Given the description of an element on the screen output the (x, y) to click on. 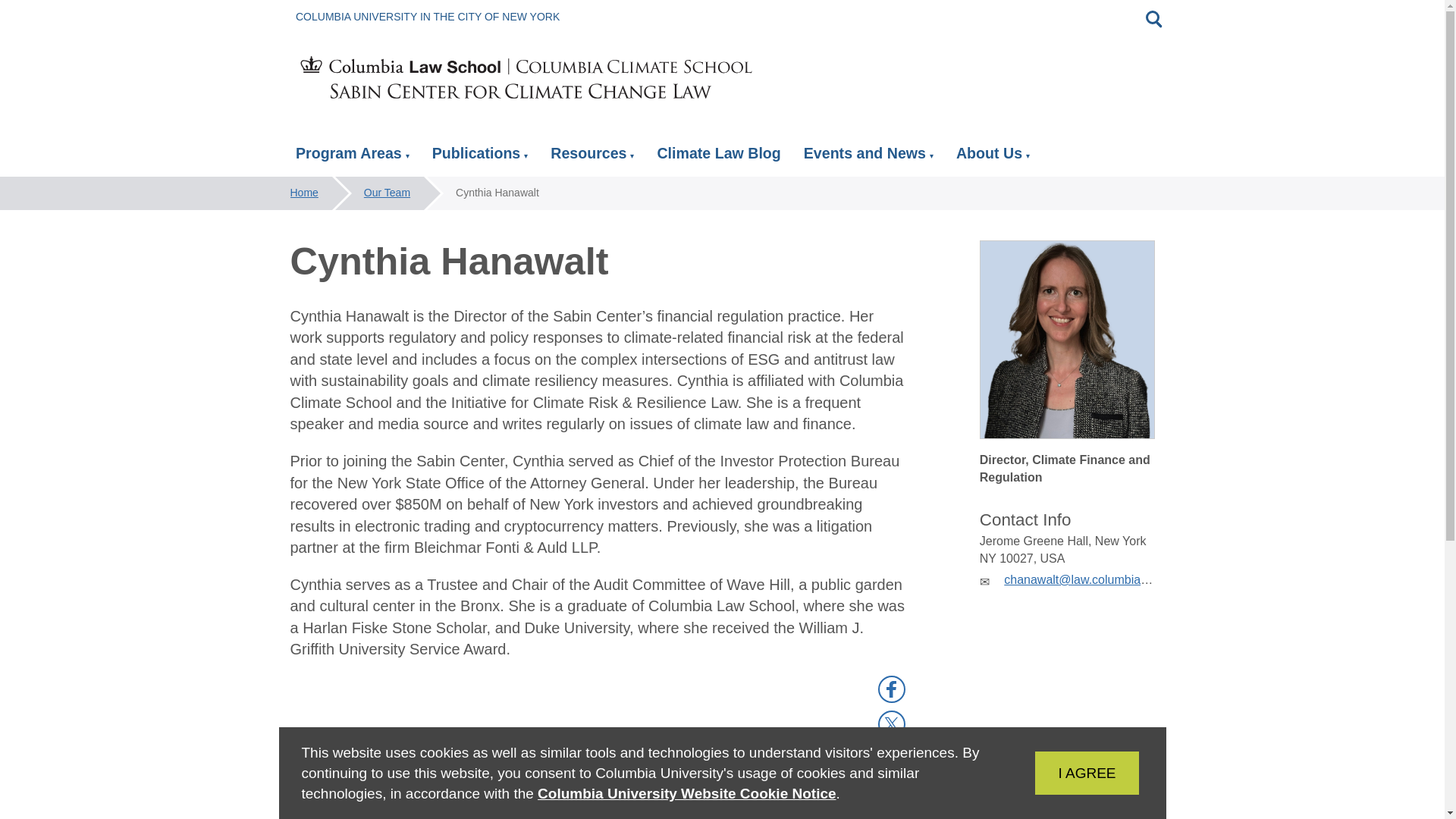
LinkedIn (891, 758)
Sabin Center for Climate Change Law (526, 82)
Facebook (891, 689)
Program Areas (351, 155)
COLUMBIA UNIVERSITY IN THE CITY OF NEW YORK (427, 17)
Toggle search (1153, 18)
Climate Law Blog (718, 153)
Resources (591, 155)
Publications (480, 155)
Print (891, 793)
About Us (992, 155)
X (891, 723)
Events and News (868, 155)
